Given the description of an element on the screen output the (x, y) to click on. 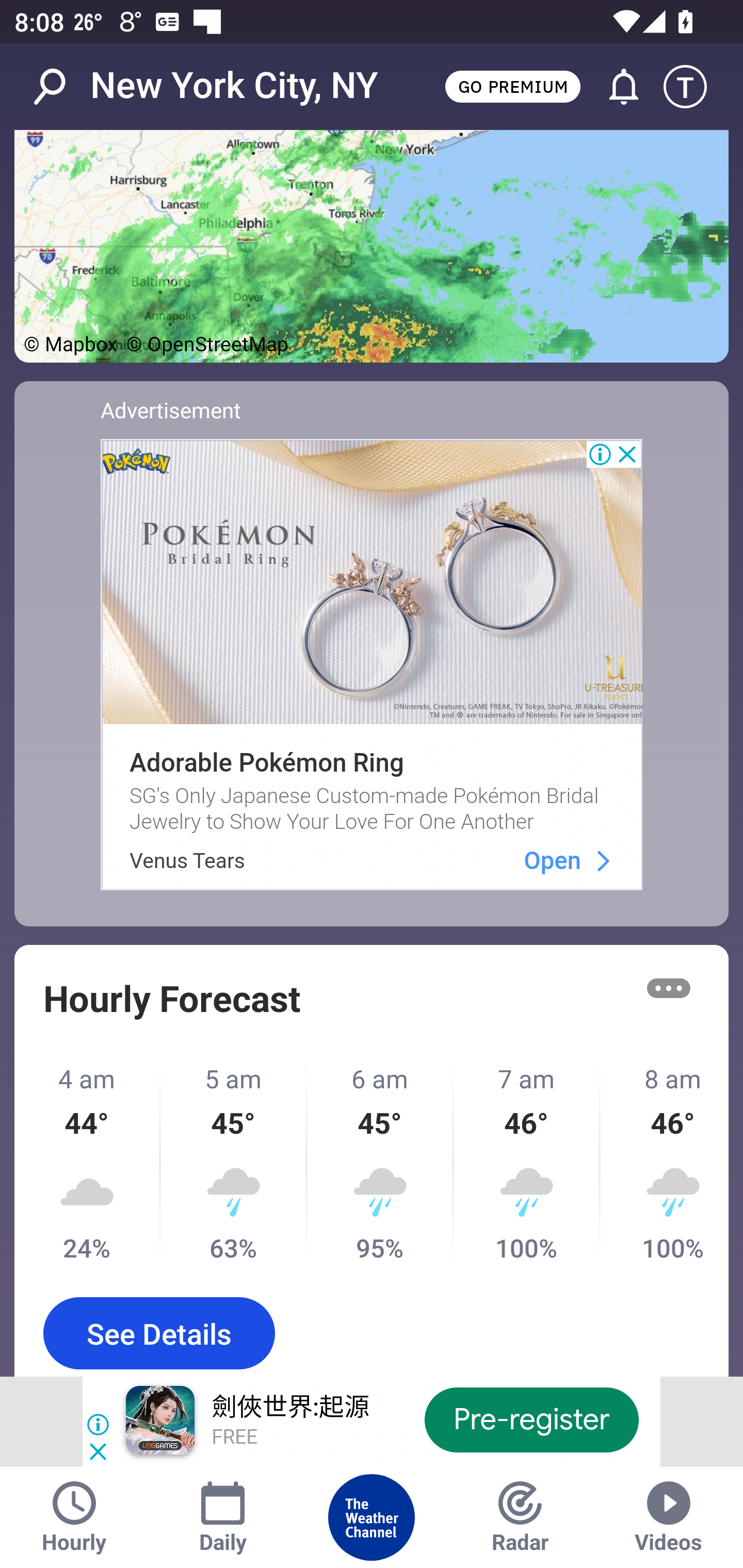
Search (59, 86)
Go to Alerts and Notifications (614, 86)
Setting icon T (694, 86)
New York City, NY (234, 85)
GO PREMIUM (512, 85)
See Map Details (371, 246)
pokemon (371, 582)
Adorable Pokémon Ring (266, 763)
pokemon (602, 860)
Open (552, 860)
Venus Tears (187, 859)
More options (668, 988)
4 am 44° 24% (87, 1163)
5 am 45° 63% (234, 1163)
6 am 45° 95% (380, 1163)
7 am 46° 100% (526, 1163)
8 am 46° 100% (664, 1163)
See Details (158, 1332)
Pre-register (530, 1419)
劍俠世界:起源 (289, 1407)
FREE (234, 1437)
Hourly Tab Hourly (74, 1517)
Daily Tab Daily (222, 1517)
Radar Tab Radar (519, 1517)
Videos Tab Videos (668, 1517)
